Given the description of an element on the screen output the (x, y) to click on. 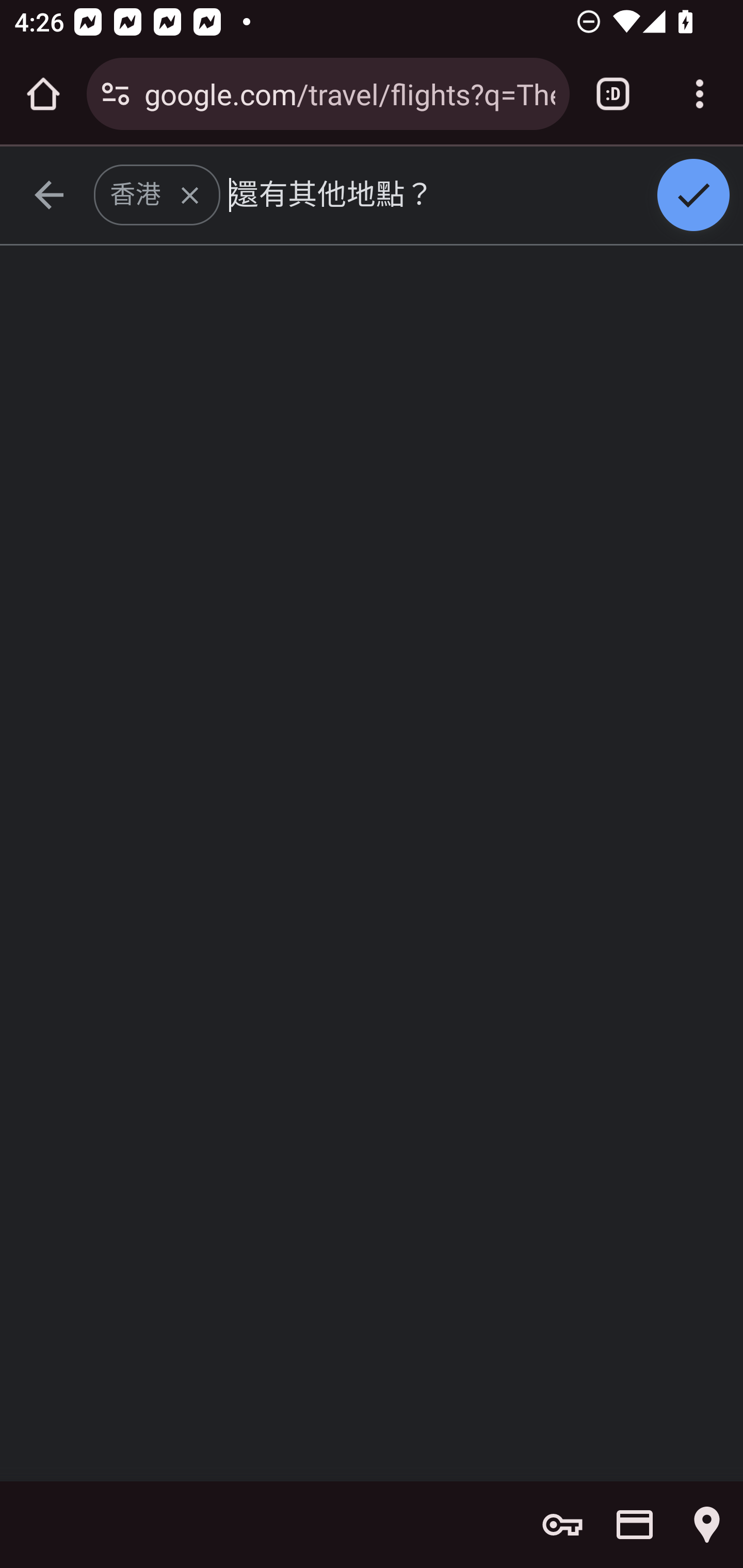
Open the home page (43, 93)
Connection is secure (115, 93)
Switch or close tabs (612, 93)
Customize and control Google Chrome (699, 93)
上一頁 (48, 195)
完成 (694, 195)
移除 (189, 195)
Show saved passwords and password options (562, 1524)
Show saved payment methods (634, 1524)
Show saved addresses (706, 1524)
